Given the description of an element on the screen output the (x, y) to click on. 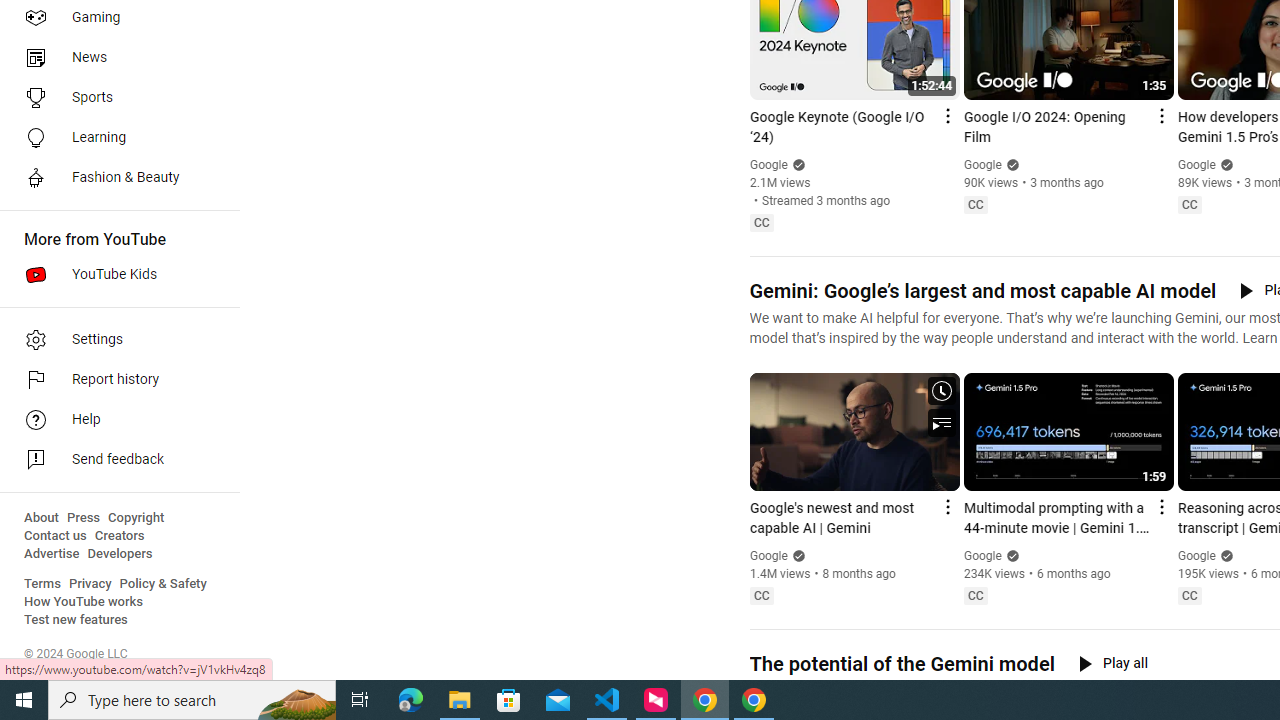
Verified (1223, 555)
